Given the description of an element on the screen output the (x, y) to click on. 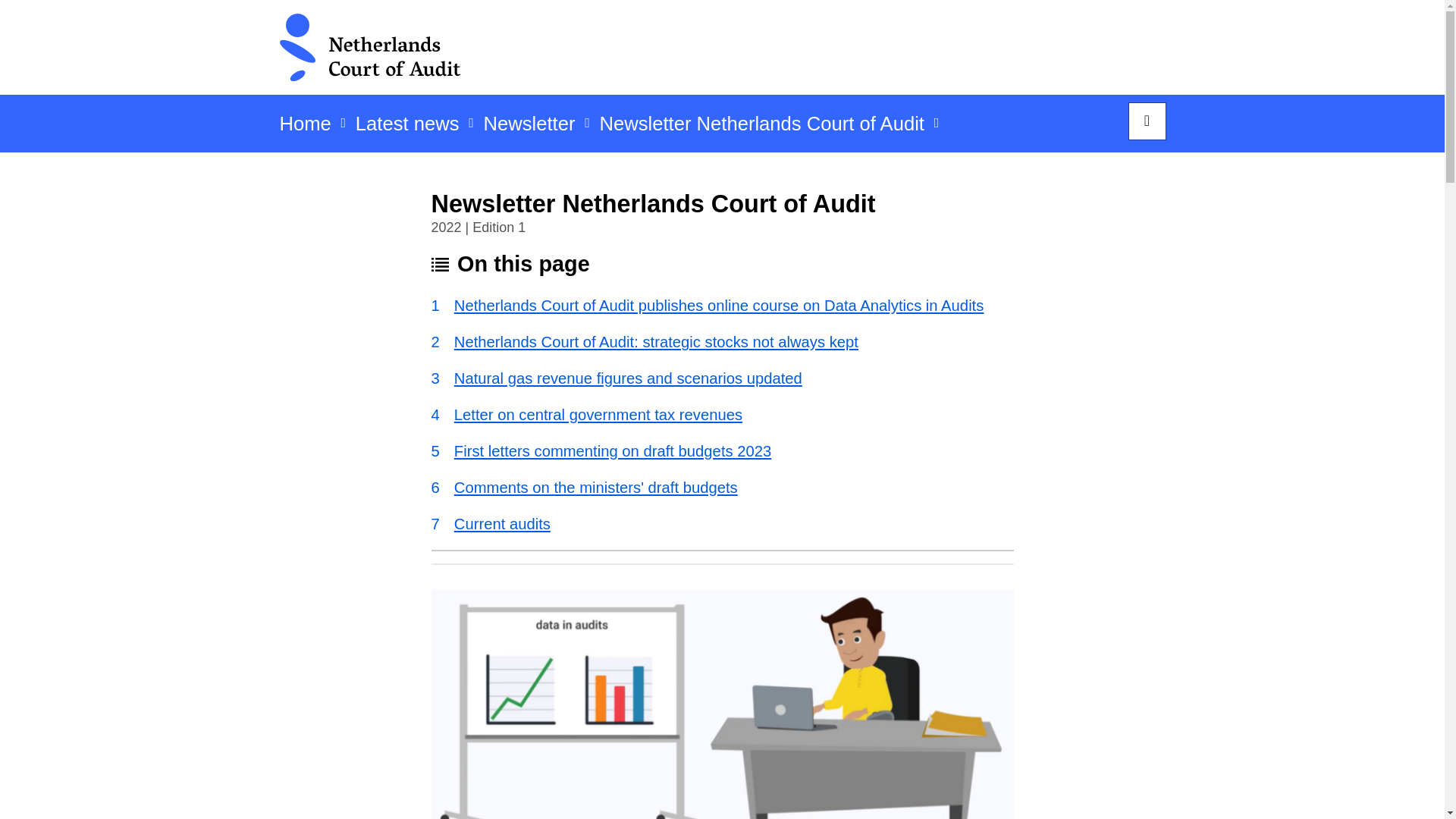
Open search box (1146, 121)
Newsletter (529, 128)
Latest news (407, 128)
Letter on central government tax revenues (721, 414)
Netherlands Court of Audit: strategic stocks not always kept (721, 341)
Newsletter Netherlands Court of Audit (760, 128)
First letters commenting on draft budgets 2023 (721, 450)
Comments on the ministers' draft budgets (721, 486)
Current audits (721, 523)
